Given the description of an element on the screen output the (x, y) to click on. 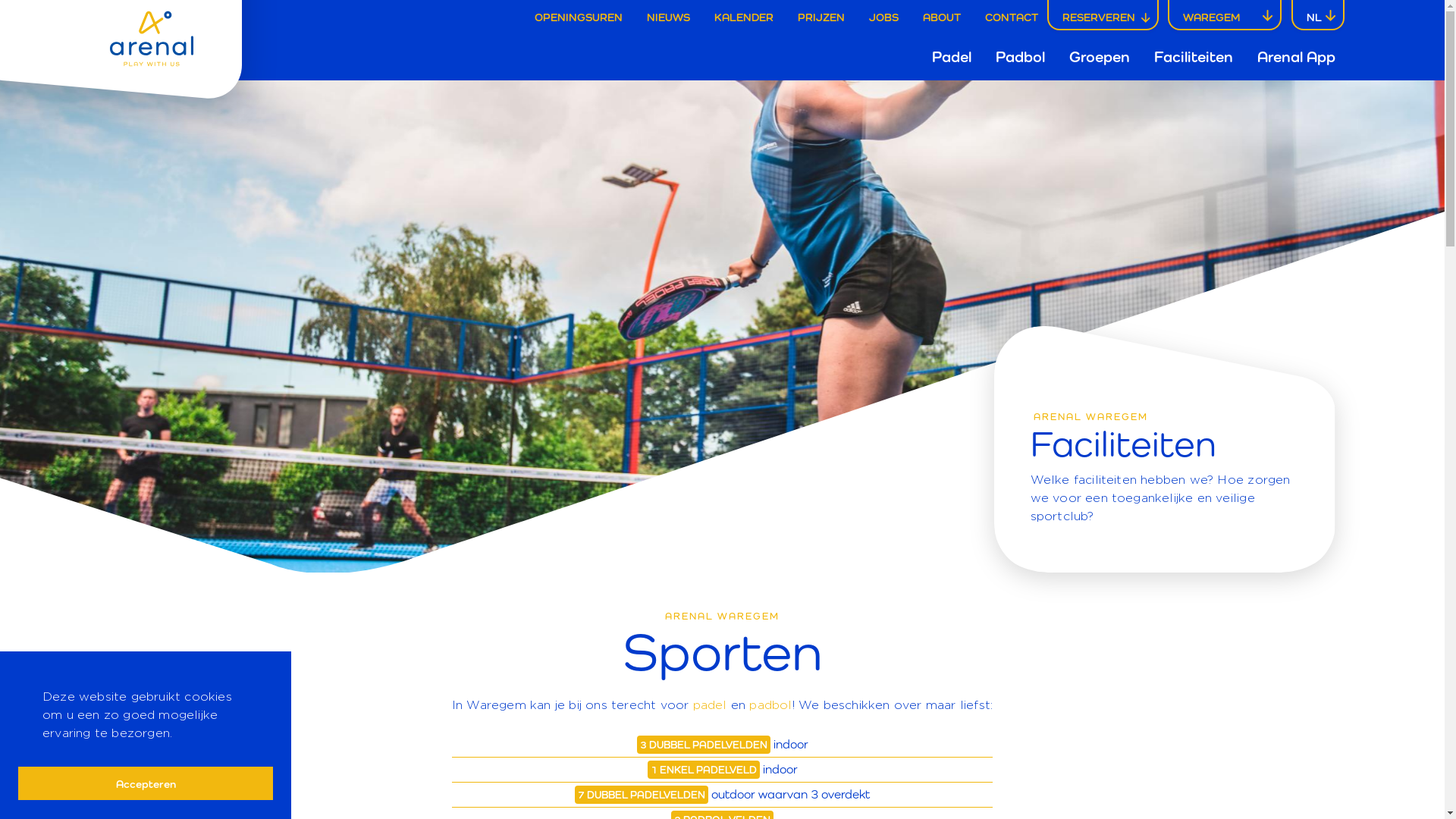
Arenal App Element type: text (1296, 56)
NIEUWS Element type: text (668, 17)
Groepen Element type: text (1099, 56)
KALENDER Element type: text (743, 17)
PRIJZEN Element type: text (820, 17)
Padbol Element type: text (1019, 56)
JOBS Element type: text (883, 17)
Padel Element type: text (950, 56)
CONTACT Element type: text (1011, 17)
ABOUT Element type: text (941, 17)
Accepteren Element type: text (145, 783)
WAREGEM Element type: text (1211, 17)
OPENINGSUREN Element type: text (578, 17)
Faciliteiten Element type: text (1193, 56)
NL Element type: text (1313, 17)
